Given the description of an element on the screen output the (x, y) to click on. 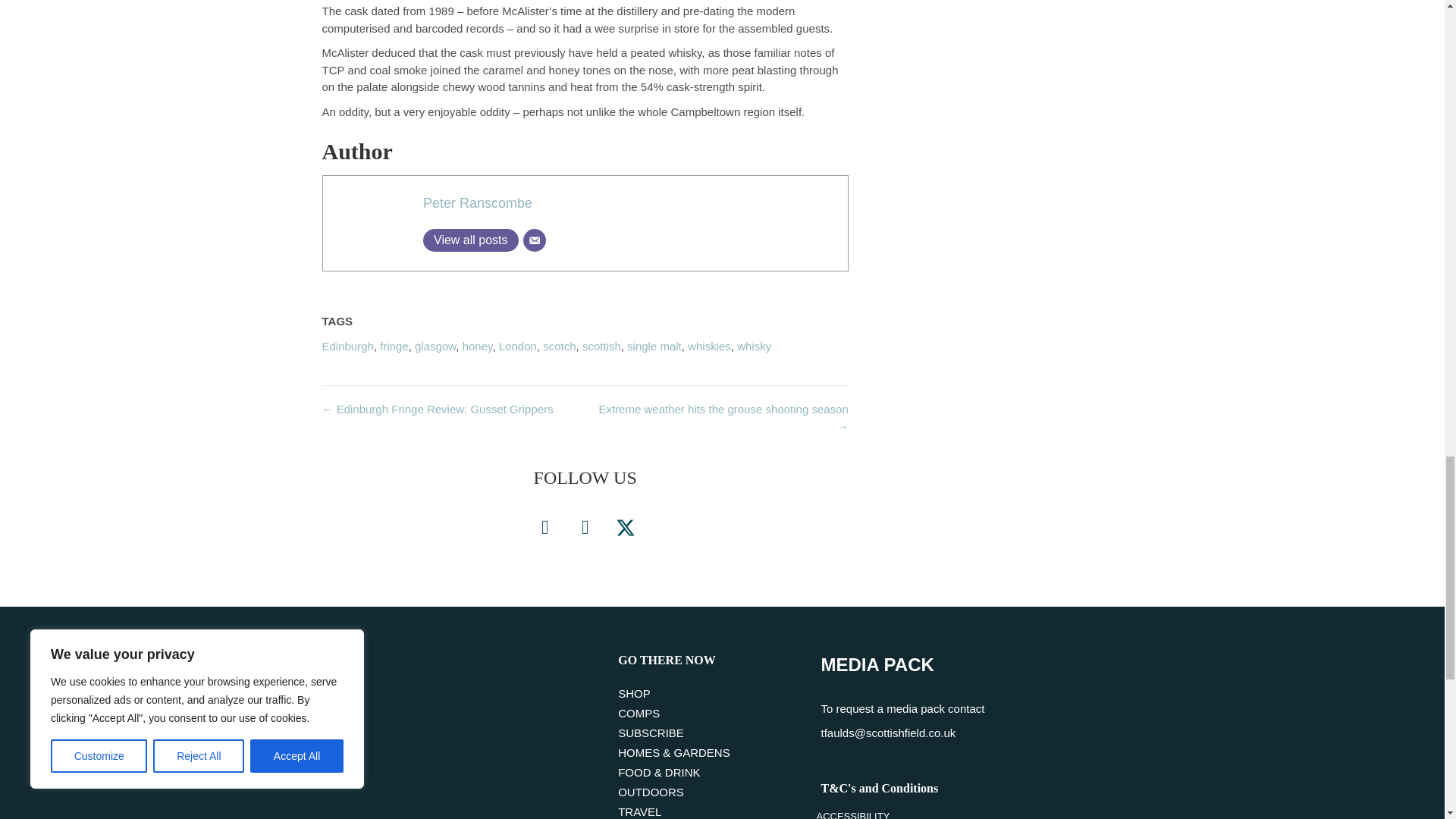
Instagram (584, 528)
Facebook (544, 528)
Peter Ranscombe (477, 202)
View all posts (470, 240)
